Given the description of an element on the screen output the (x, y) to click on. 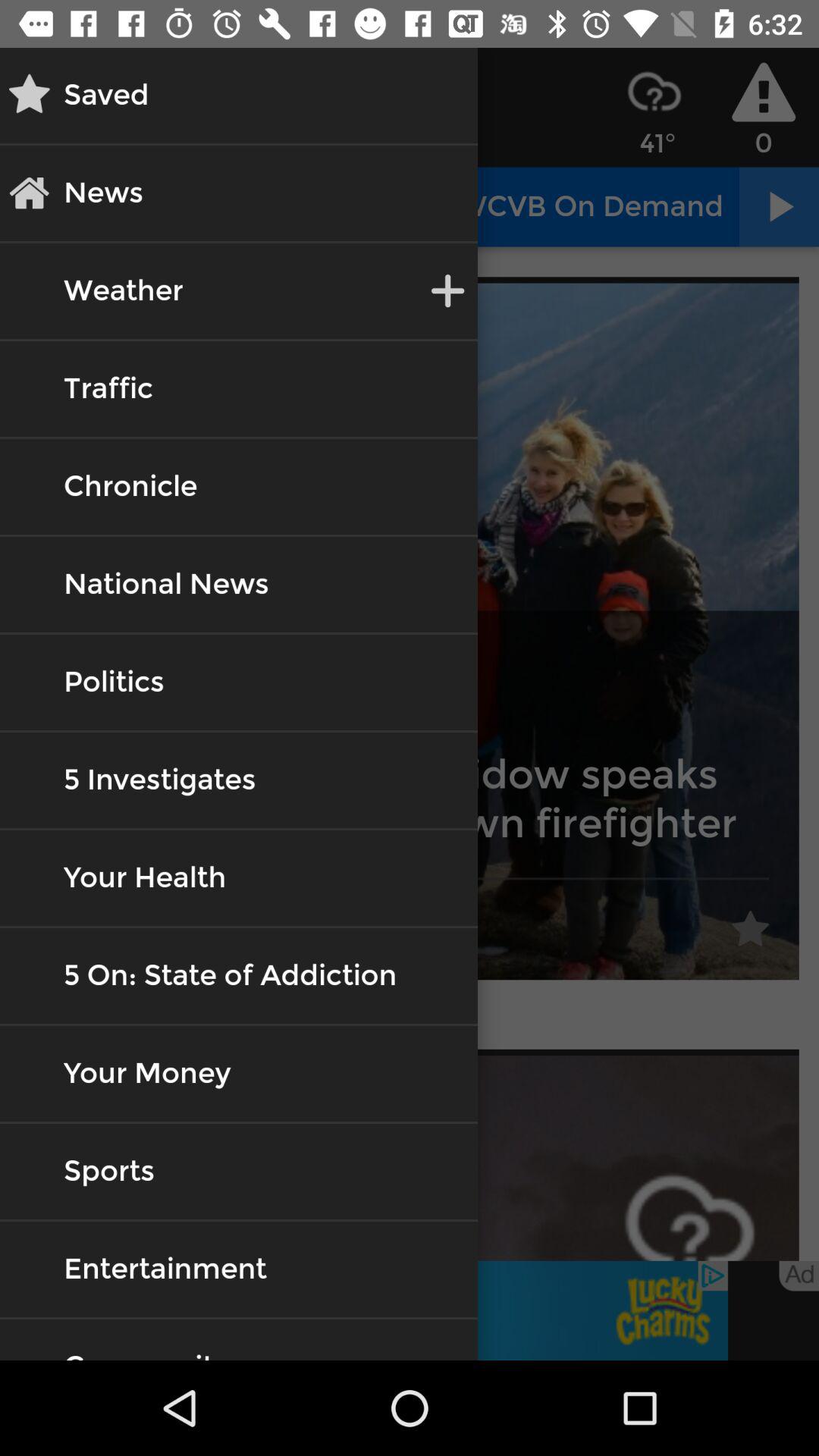
select the first star icon on the web page (750, 929)
click on the icon which is above 41 (654, 90)
click the weather button on the web page (123, 291)
